Given the description of an element on the screen output the (x, y) to click on. 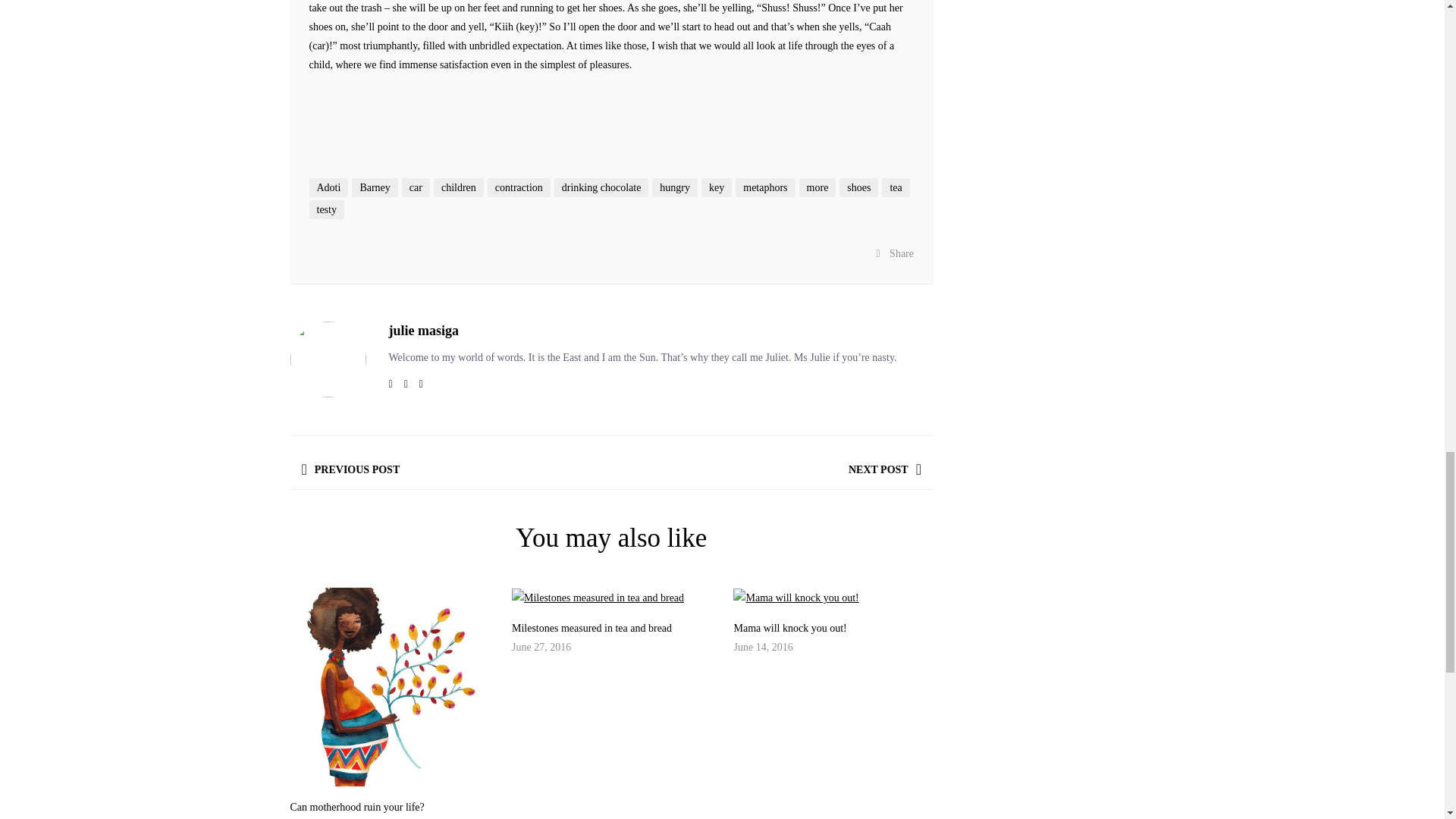
Adoti (328, 187)
tea (895, 187)
metaphors (764, 187)
Share (895, 253)
children (458, 187)
more (817, 187)
contraction (518, 187)
hungry (674, 187)
testy (325, 209)
Barney (374, 187)
key (716, 187)
shoes (858, 187)
drinking chocolate (601, 187)
car (415, 187)
